Given the description of an element on the screen output the (x, y) to click on. 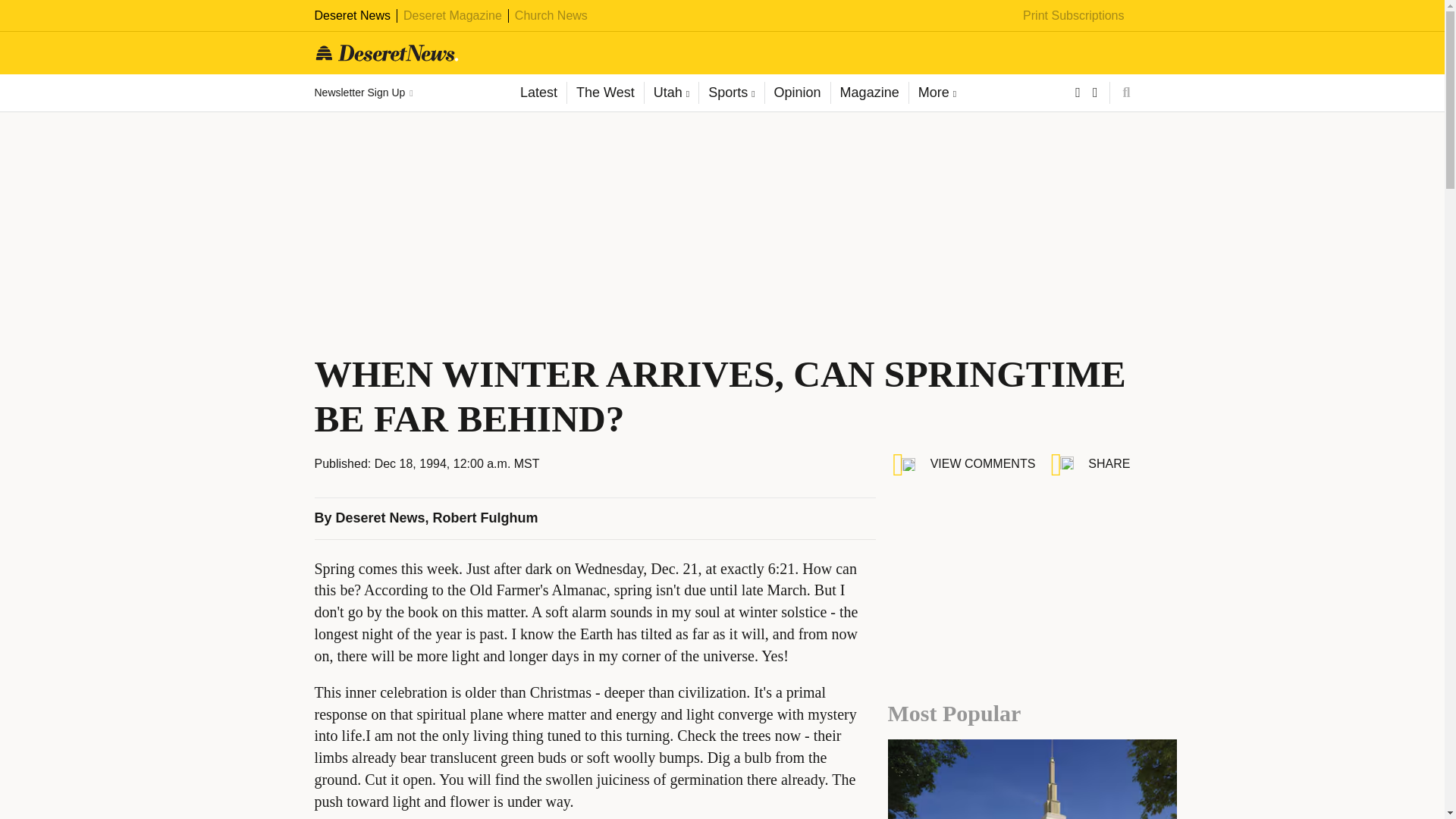
Deseret News (352, 15)
Church News (551, 15)
Magazine (868, 92)
Opinion (796, 92)
Latest (538, 92)
The West (604, 92)
Newsletter Sign Up (363, 92)
Sports (730, 92)
Utah (670, 92)
Deseret Magazine (452, 15)
